Given the description of an element on the screen output the (x, y) to click on. 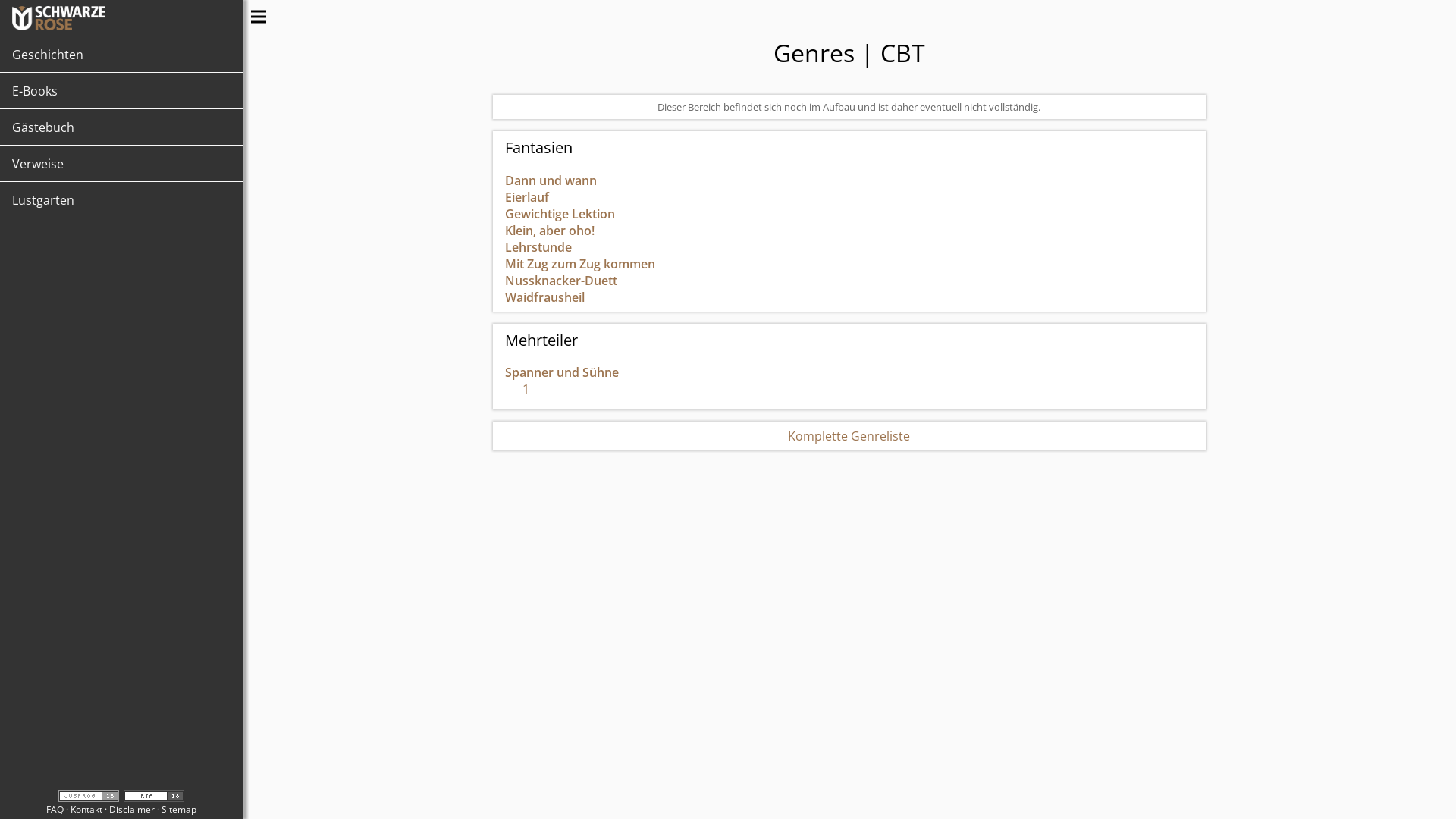
FAQ Element type: text (54, 809)
Disclaimer Element type: text (131, 809)
Waidfrausheil Element type: text (544, 296)
Eierlauf Element type: text (527, 196)
Kontakt Element type: text (86, 809)
Geschichten Element type: text (121, 54)
Mit Zug zum Zug kommen Element type: text (580, 263)
Sitemap Element type: text (178, 809)
Nussknacker-Duett Element type: text (561, 280)
Verweise Element type: text (121, 163)
Gewichtige Lektion Element type: text (560, 213)
Jugendschutzprogramm Element type: hover (88, 795)
Lehrstunde Element type: text (538, 246)
Lustgarten Element type: text (121, 200)
E-Books Element type: text (121, 90)
Klein, aber oho! Element type: text (549, 230)
Restricted to Adults Element type: hover (153, 795)
1 Element type: text (517, 391)
Komplette Genreliste Element type: text (848, 435)
Dann und wann Element type: text (550, 180)
